Given the description of an element on the screen output the (x, y) to click on. 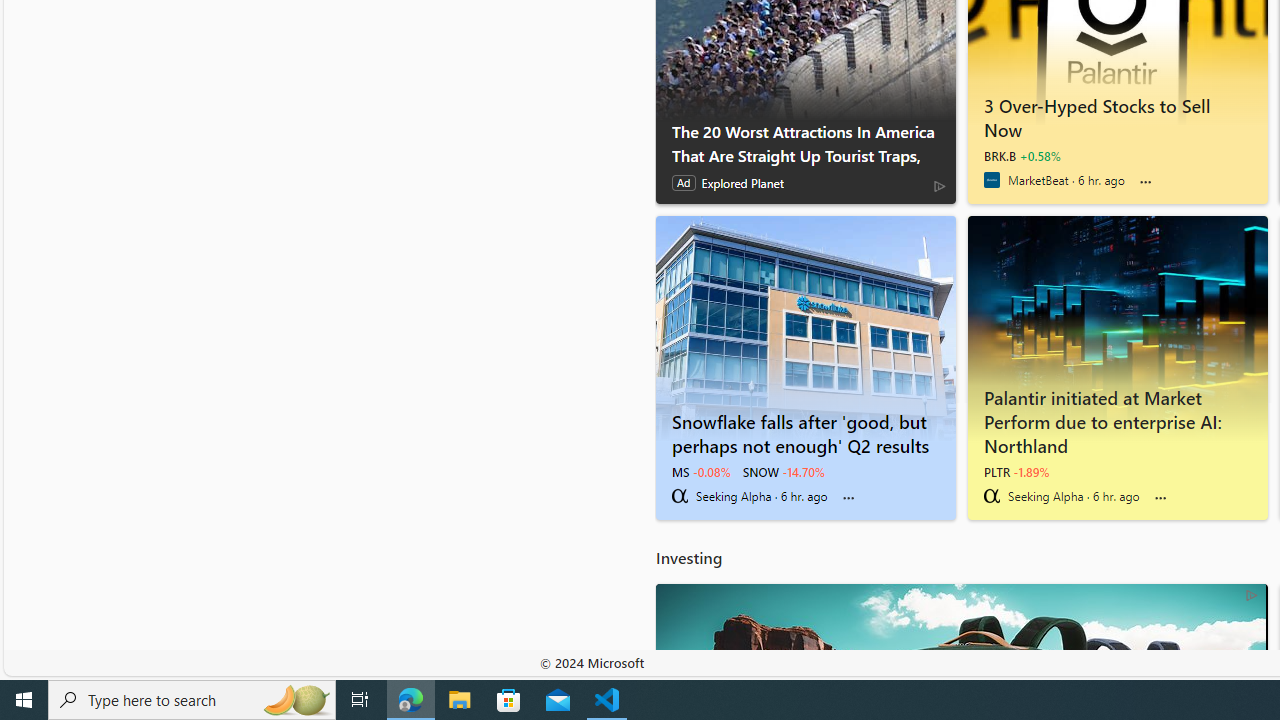
AdChoices (1251, 593)
SNOW -14.70% (783, 471)
AdChoices (1251, 594)
